Given the description of an element on the screen output the (x, y) to click on. 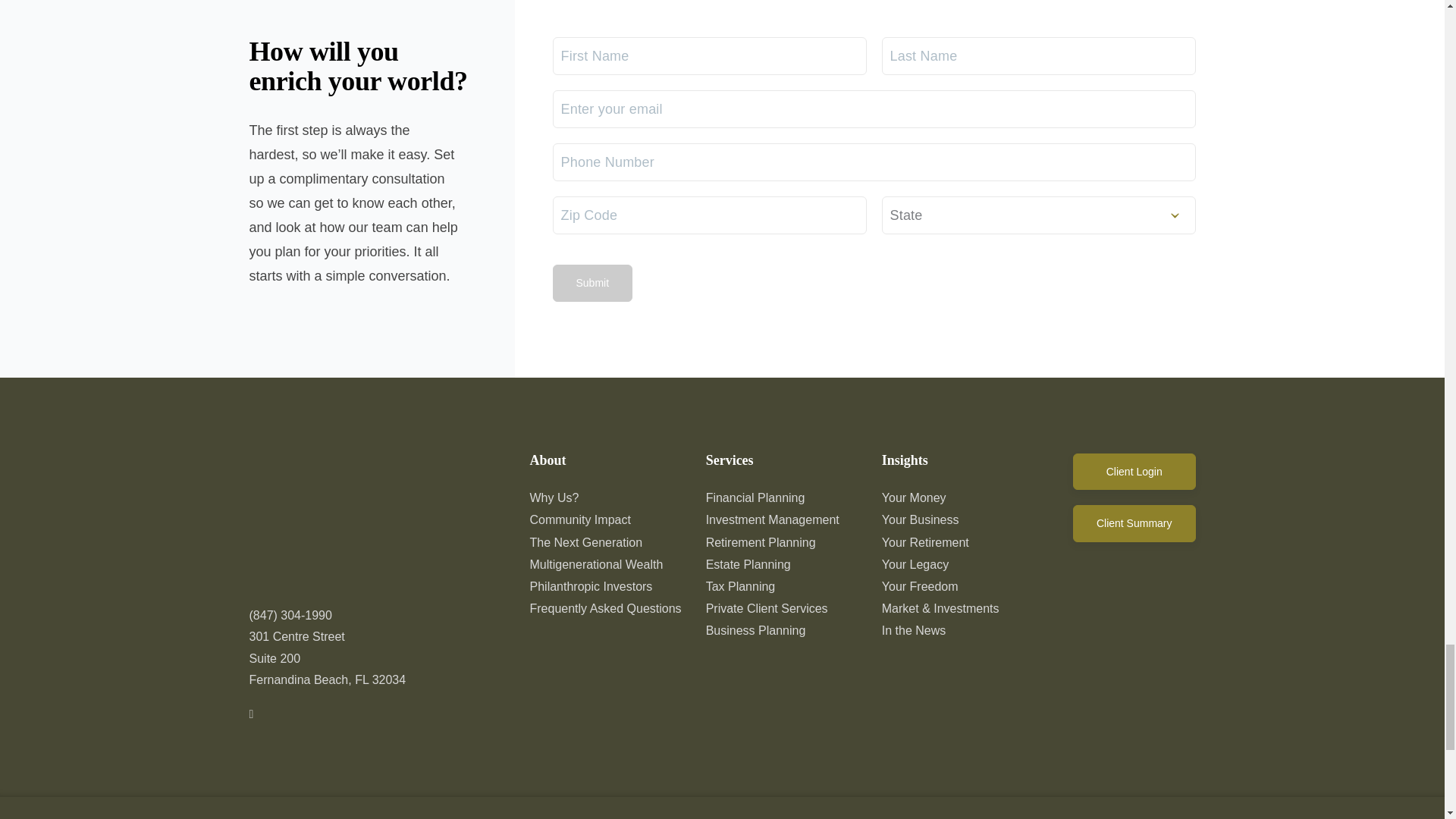
Submit (591, 282)
